Given the description of an element on the screen output the (x, y) to click on. 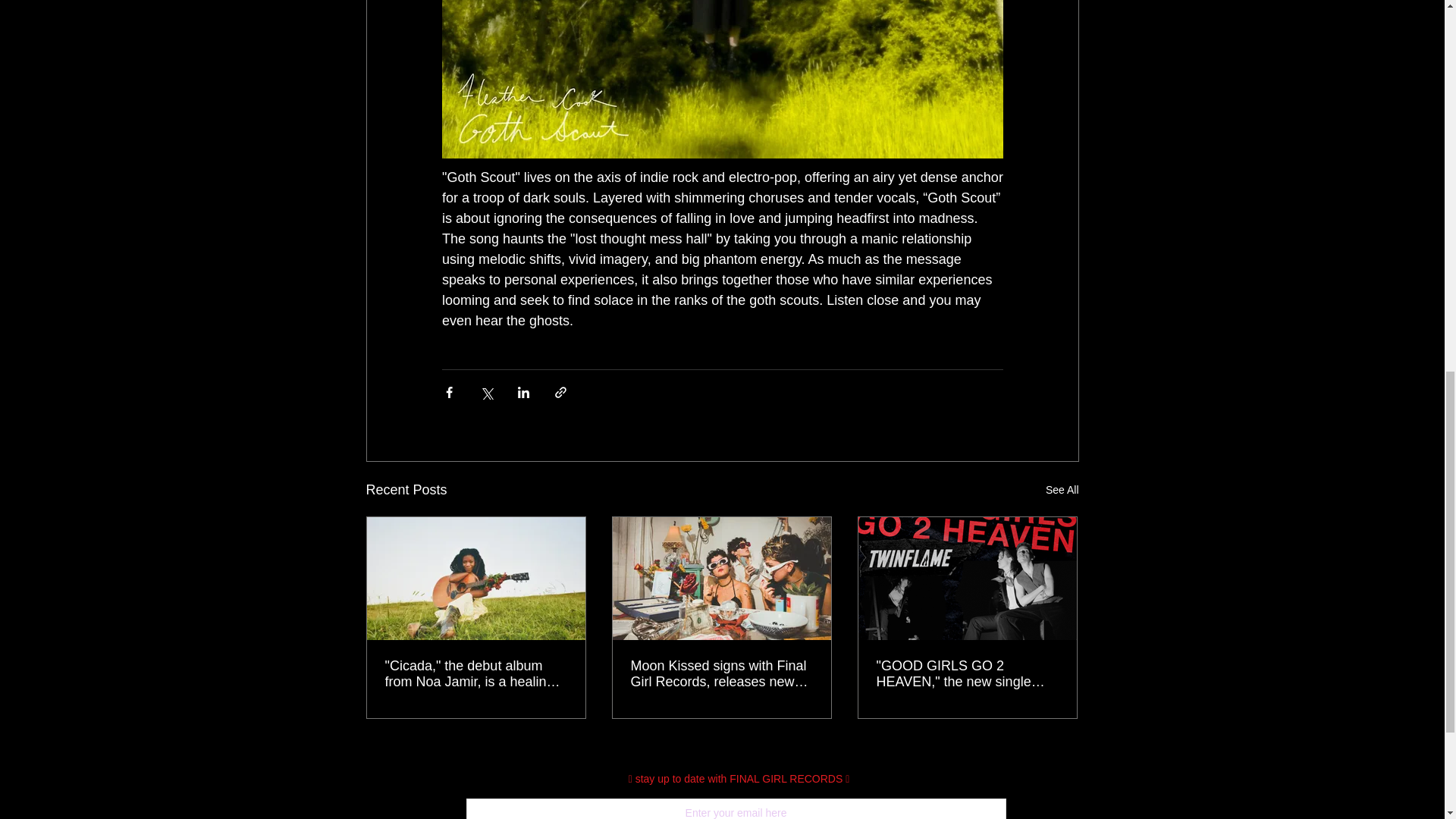
See All (1061, 490)
